Given the description of an element on the screen output the (x, y) to click on. 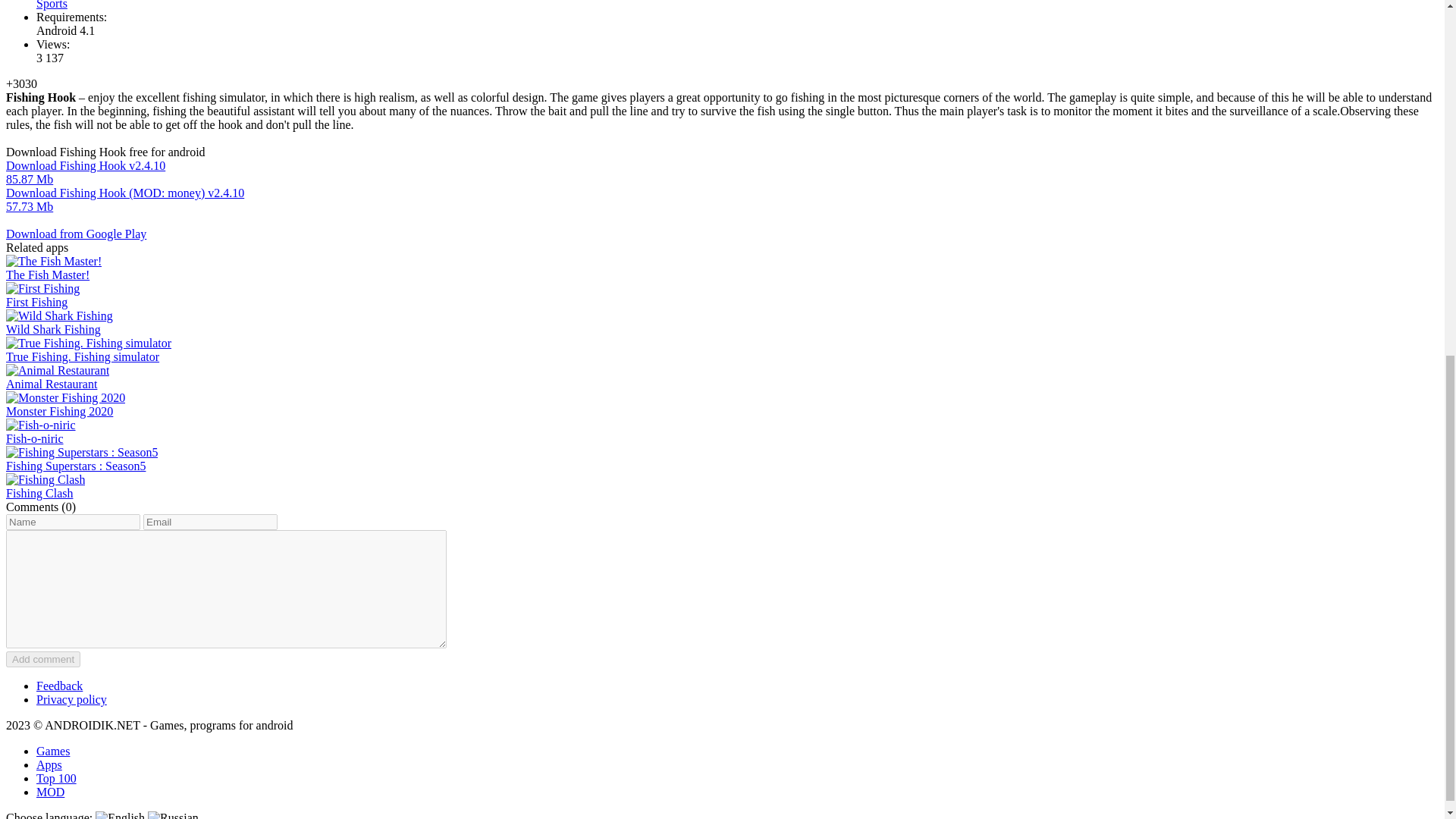
Sports (51, 4)
Add comment (42, 659)
